Given the description of an element on the screen output the (x, y) to click on. 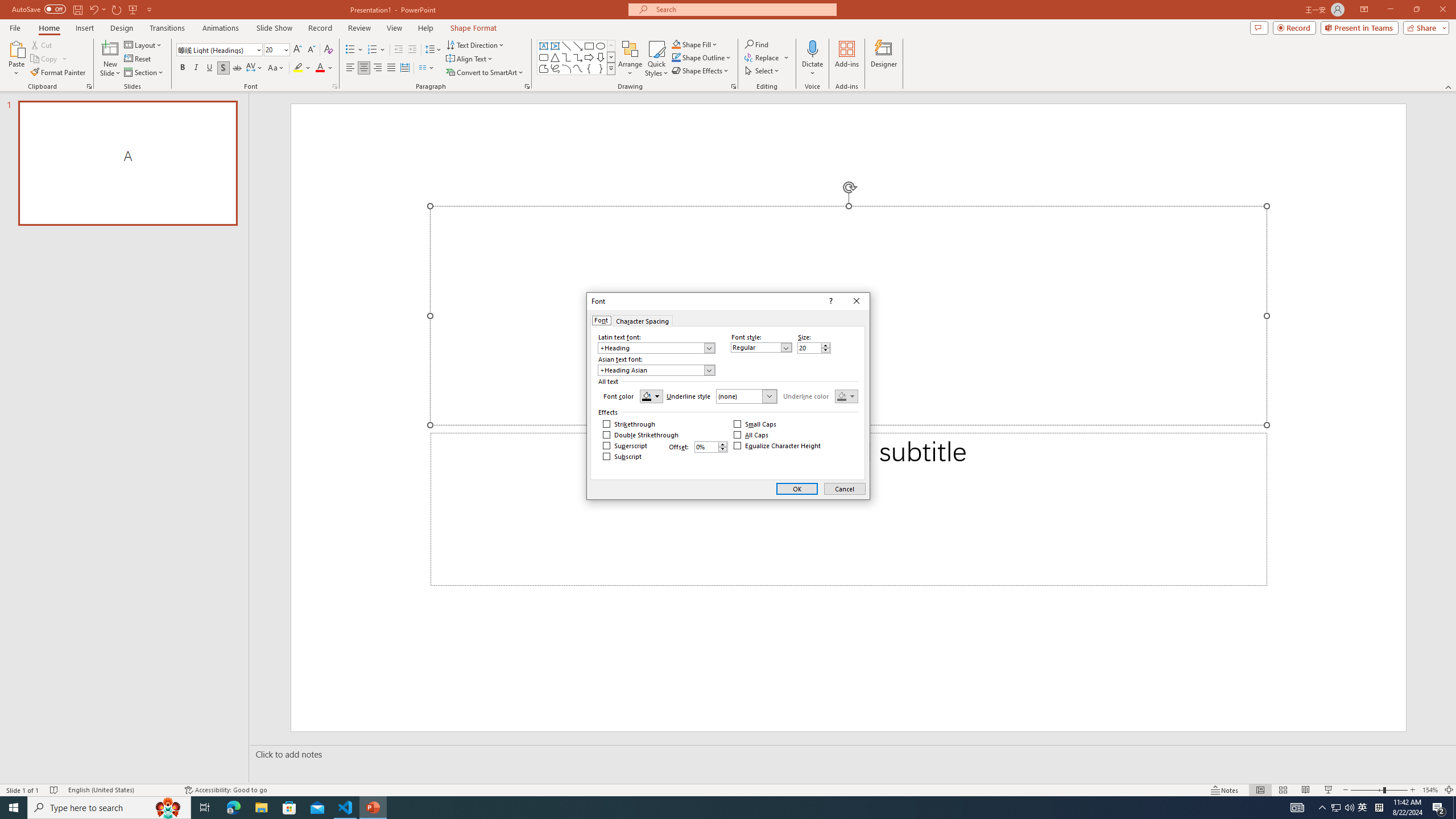
Offset (711, 446)
Subscript (622, 456)
